Given the description of an element on the screen output the (x, y) to click on. 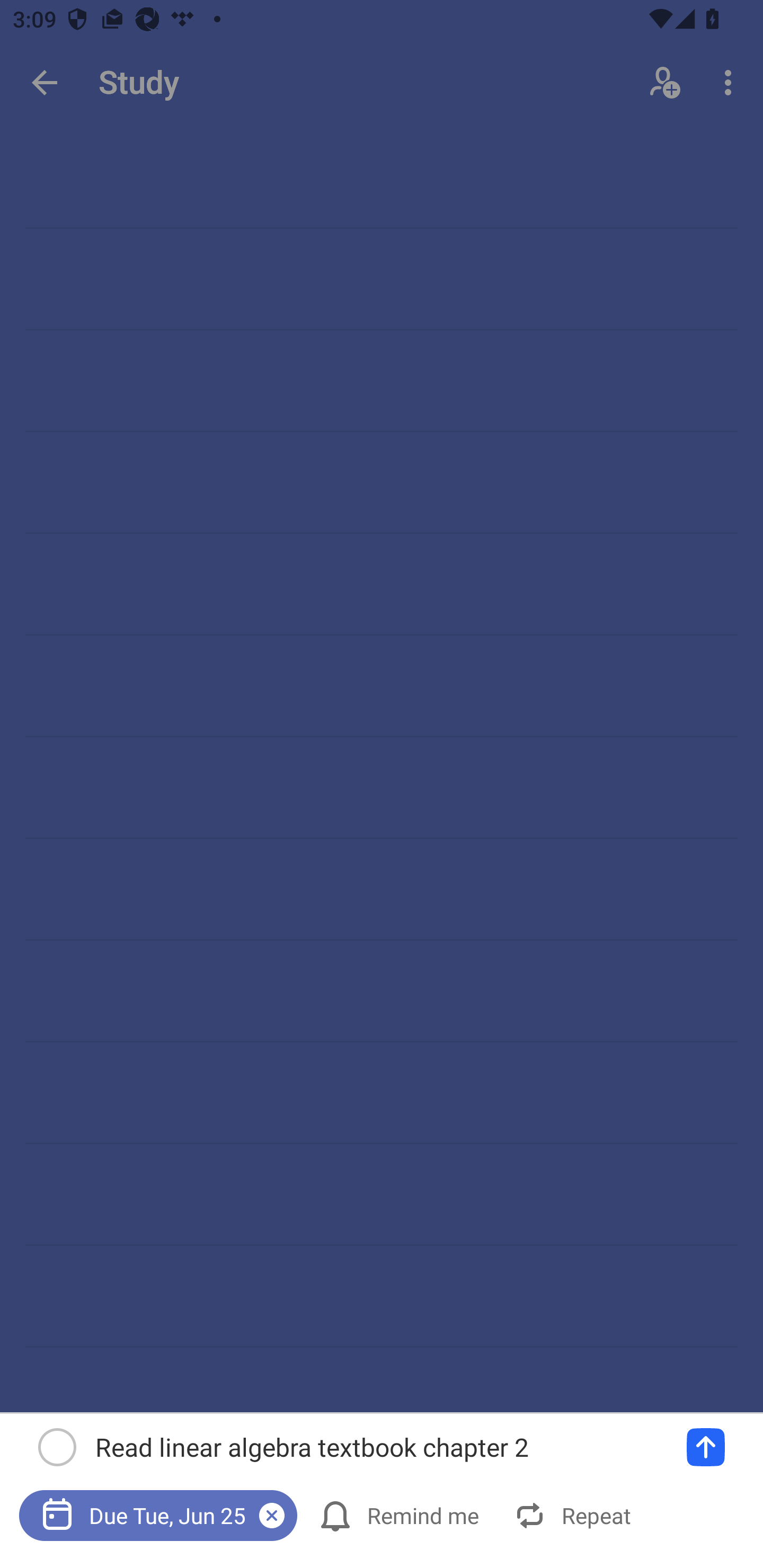
Add a task (705, 1446)
